Given the description of an element on the screen output the (x, y) to click on. 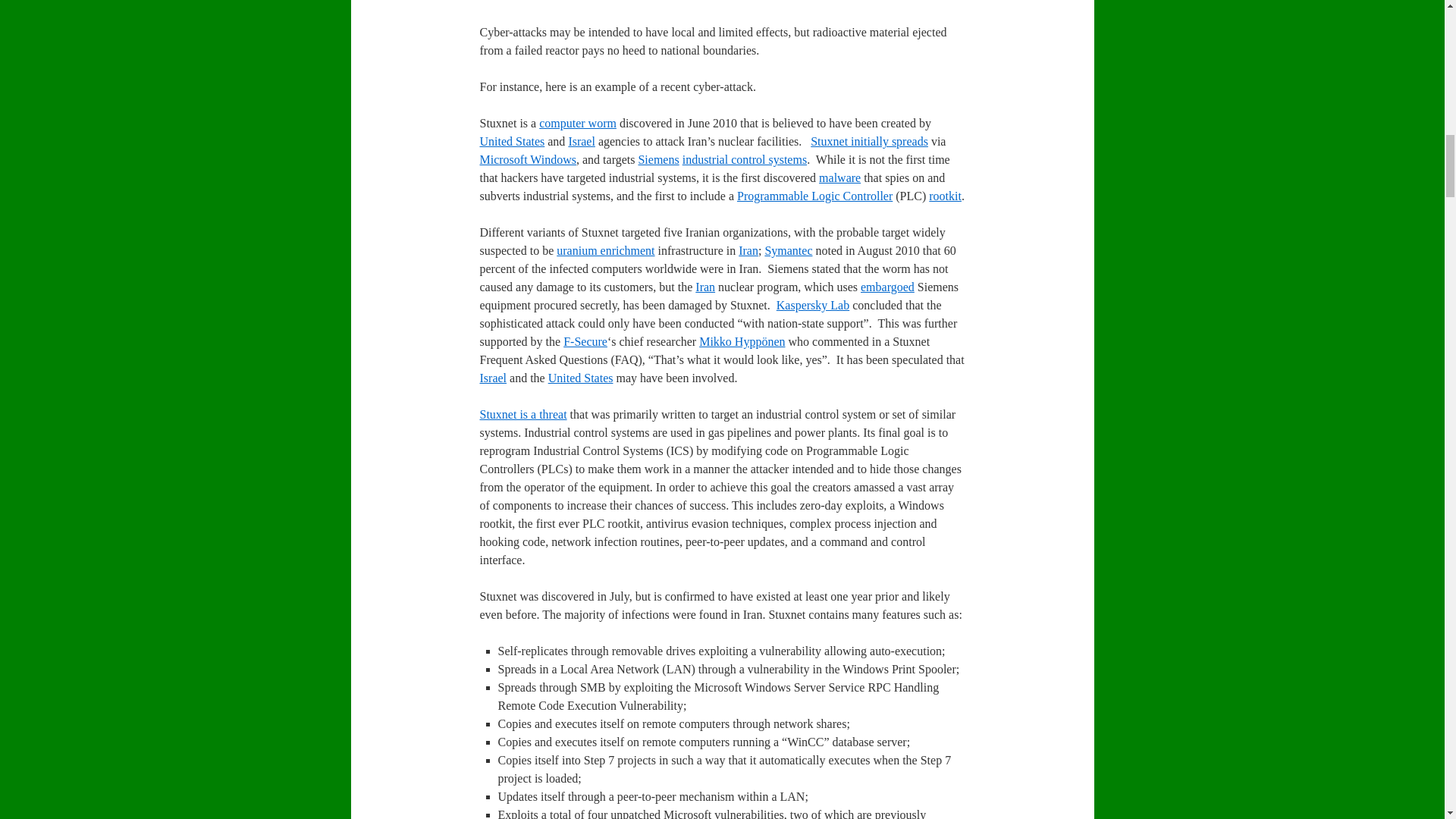
computer worm (576, 123)
F-Secure (585, 341)
Iran (748, 250)
Iran (704, 286)
Israel (581, 141)
Microsoft Windows (527, 159)
Israel (581, 141)
Industrial control system (744, 159)
United States (511, 141)
uranium enrichment (604, 250)
